Given the description of an element on the screen output the (x, y) to click on. 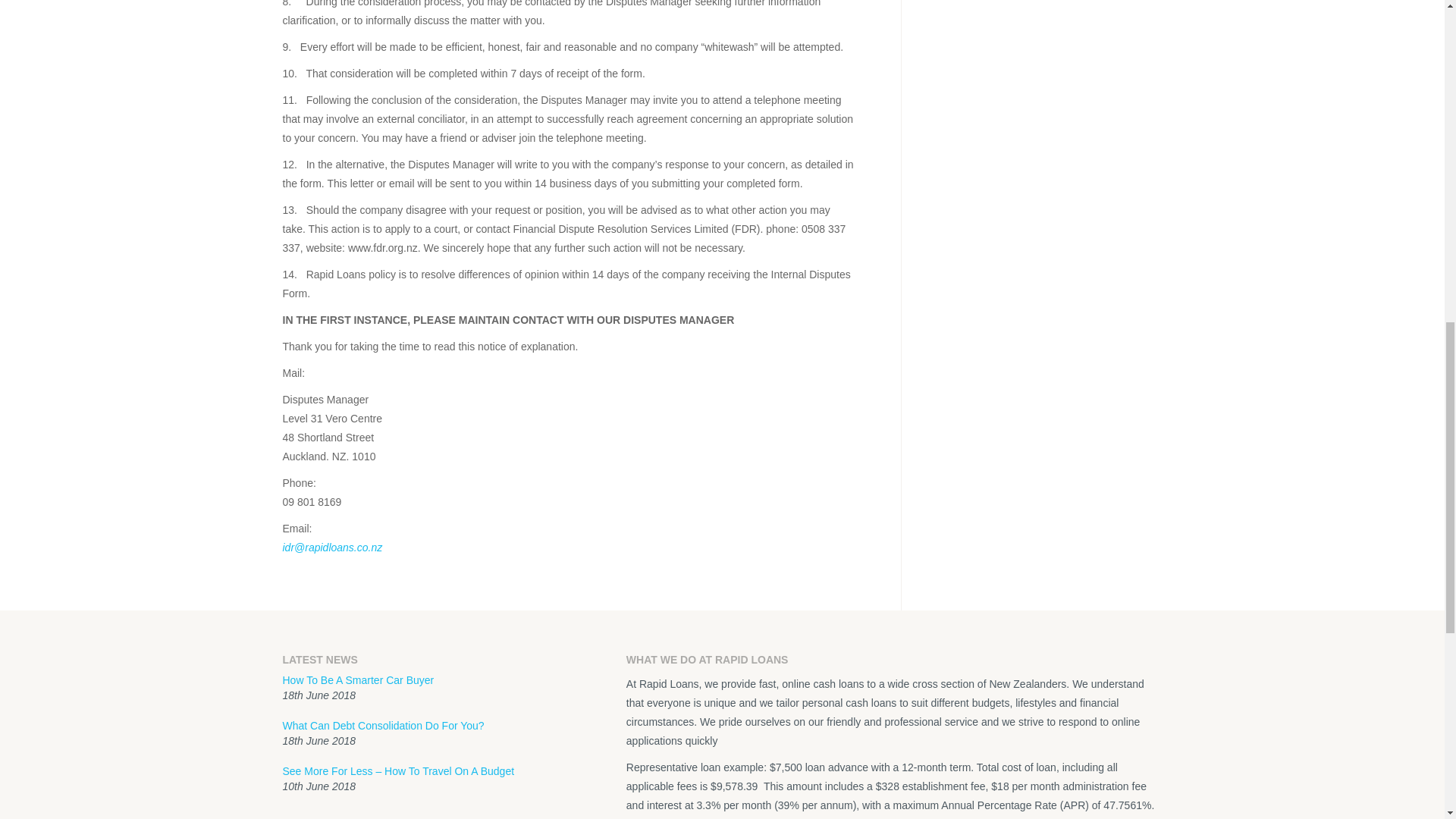
What Can Debt Consolidation Do For You? (382, 725)
How To Be A Smarter Car Buyer (357, 680)
